Given the description of an element on the screen output the (x, y) to click on. 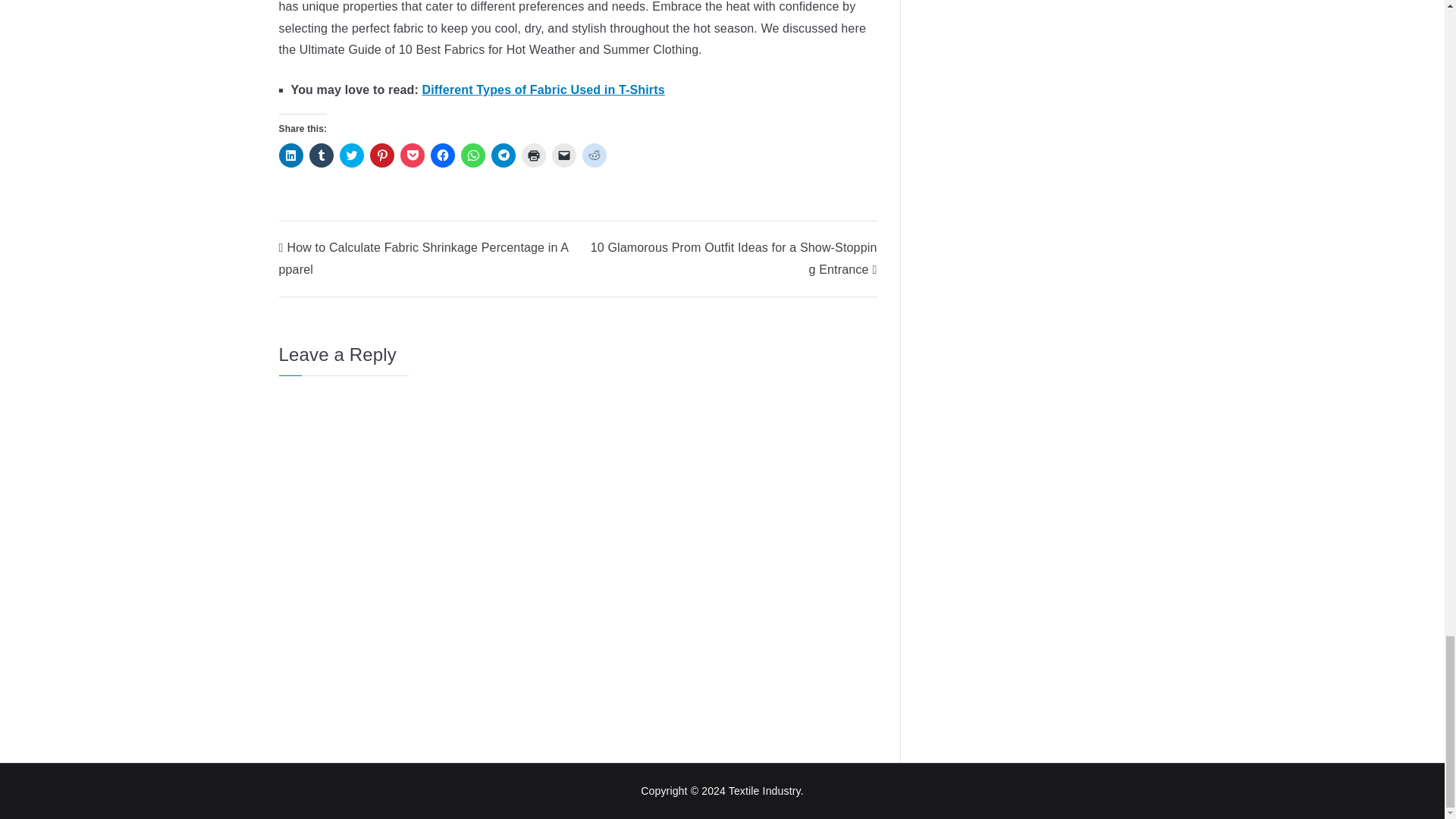
Click to share on Twitter (351, 155)
Click to share on LinkedIn (290, 155)
Click to email a link to a friend (563, 155)
Click to share on Pocket (412, 155)
Click to print (533, 155)
Click to share on Reddit (594, 155)
Click to share on Tumblr (320, 155)
Click to share on WhatsApp (472, 155)
Click to share on Pinterest (381, 155)
Click to share on Facebook (442, 155)
Click to share on Telegram (503, 155)
